Given the description of an element on the screen output the (x, y) to click on. 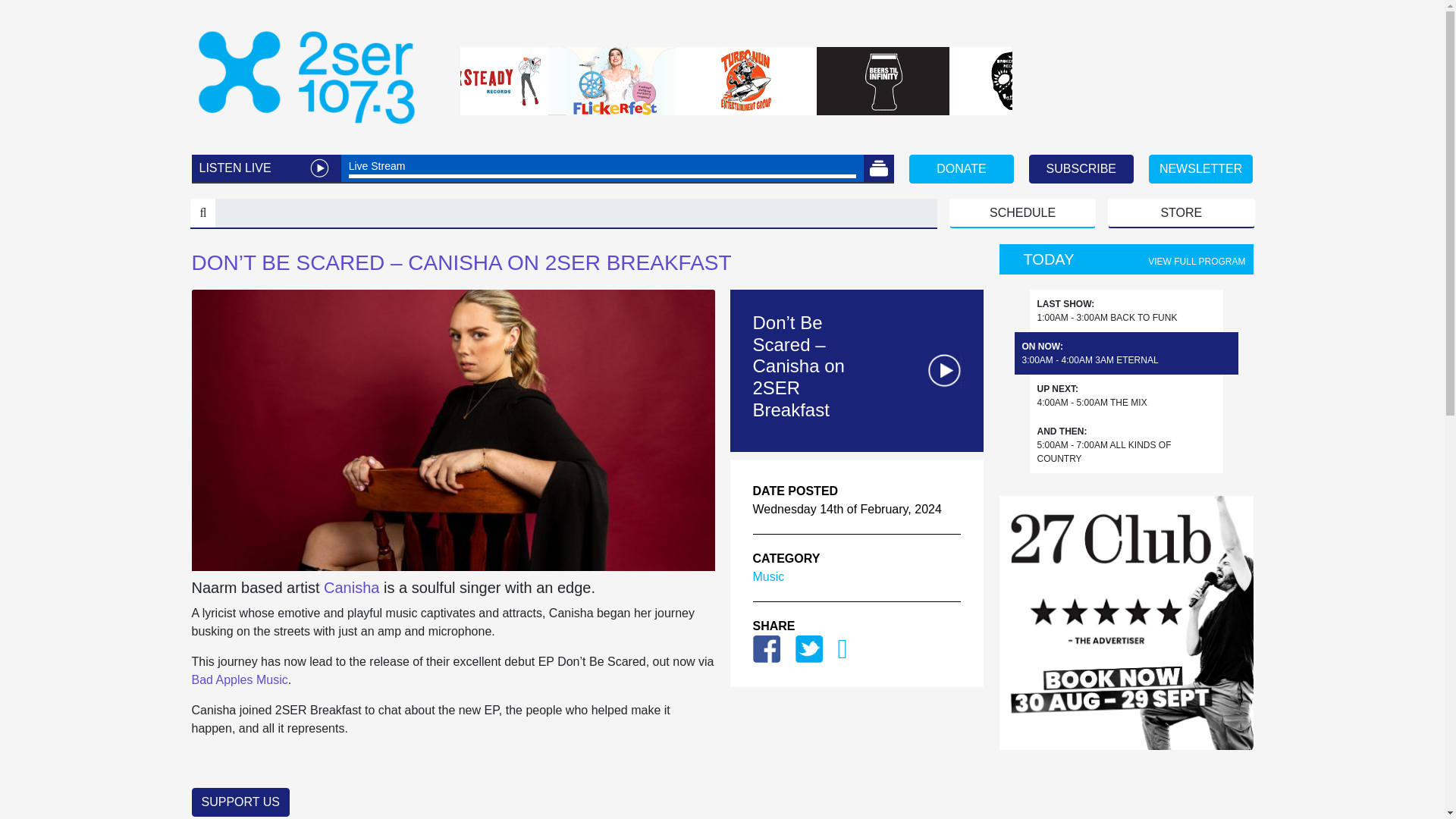
Share on Facebook (765, 647)
SUBSCRIBE (1081, 168)
Music (768, 576)
DONATE (960, 168)
VIEW FULL PROGRAM (1196, 261)
Share on Facebook (765, 647)
Tweet (808, 647)
STORE (1180, 213)
NEWSLETTER (1200, 168)
Bad Apples Music (238, 679)
